Given the description of an element on the screen output the (x, y) to click on. 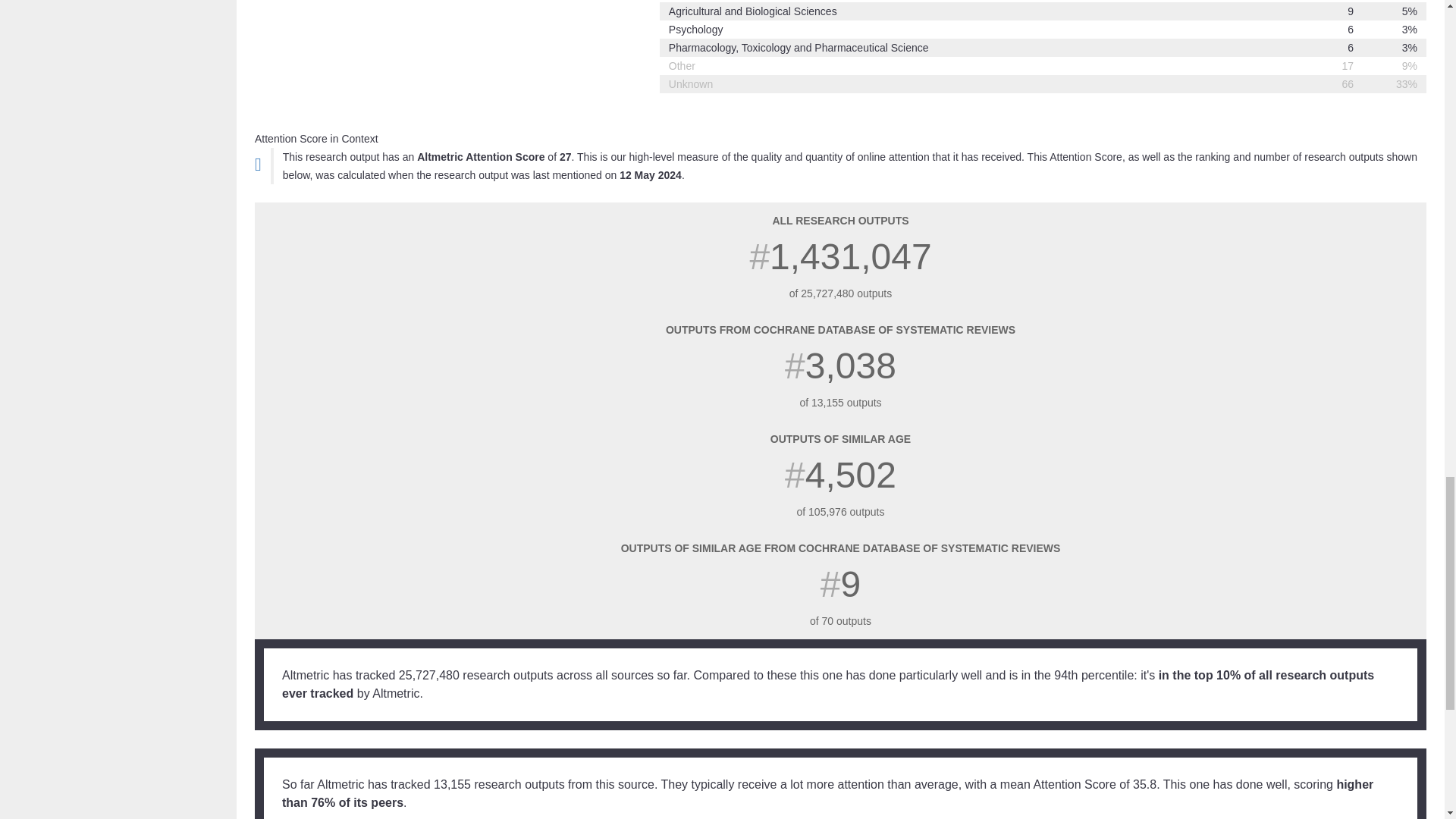
About this data (258, 164)
